Given the description of an element on the screen output the (x, y) to click on. 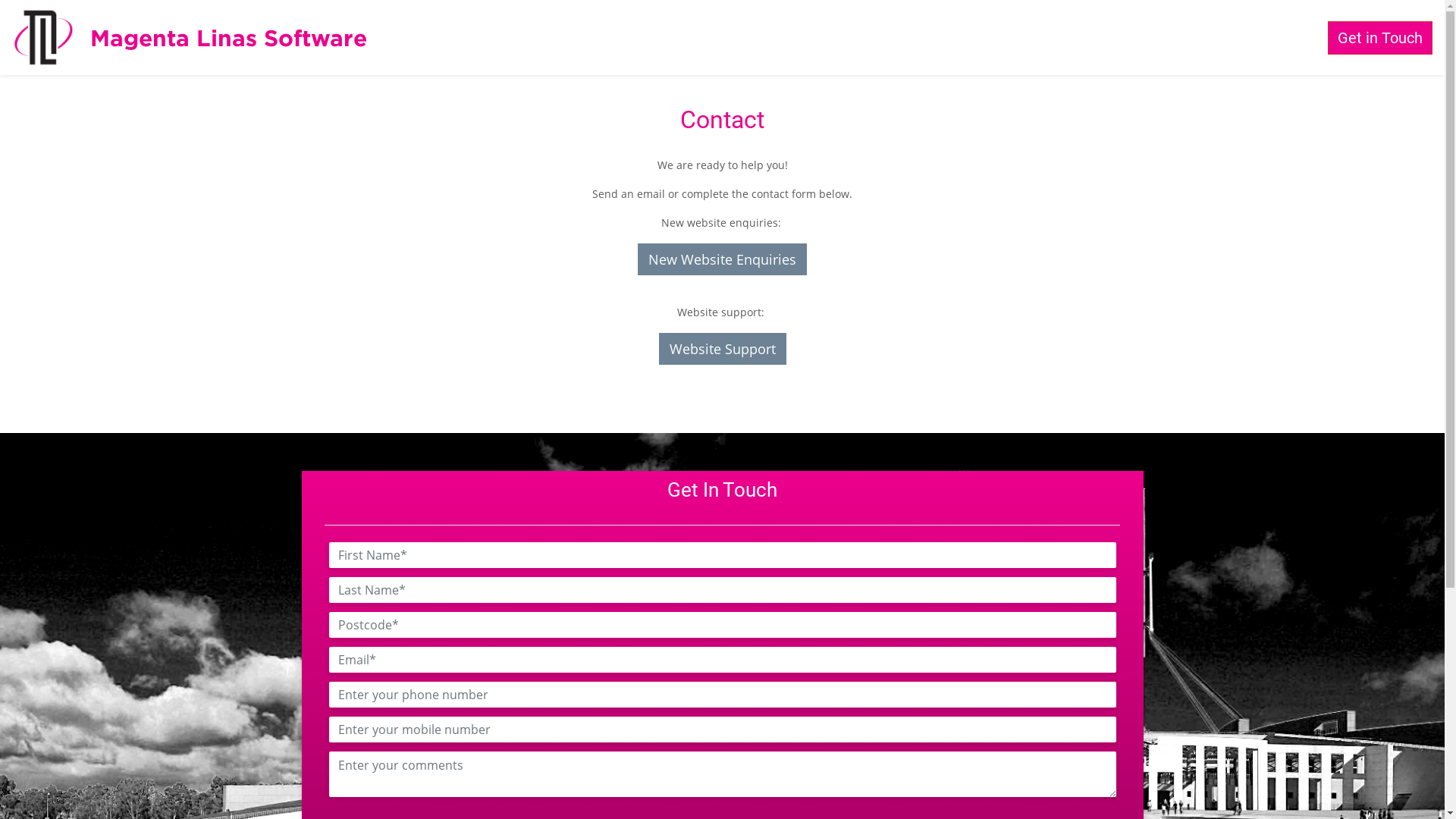
New Website Enquiries Element type: text (722, 259)
New Website Enquiries Element type: text (721, 259)
Website Support Element type: text (721, 348)
Get in Touch Element type: text (1379, 37)
Website Support Element type: text (721, 348)
